Given the description of an element on the screen output the (x, y) to click on. 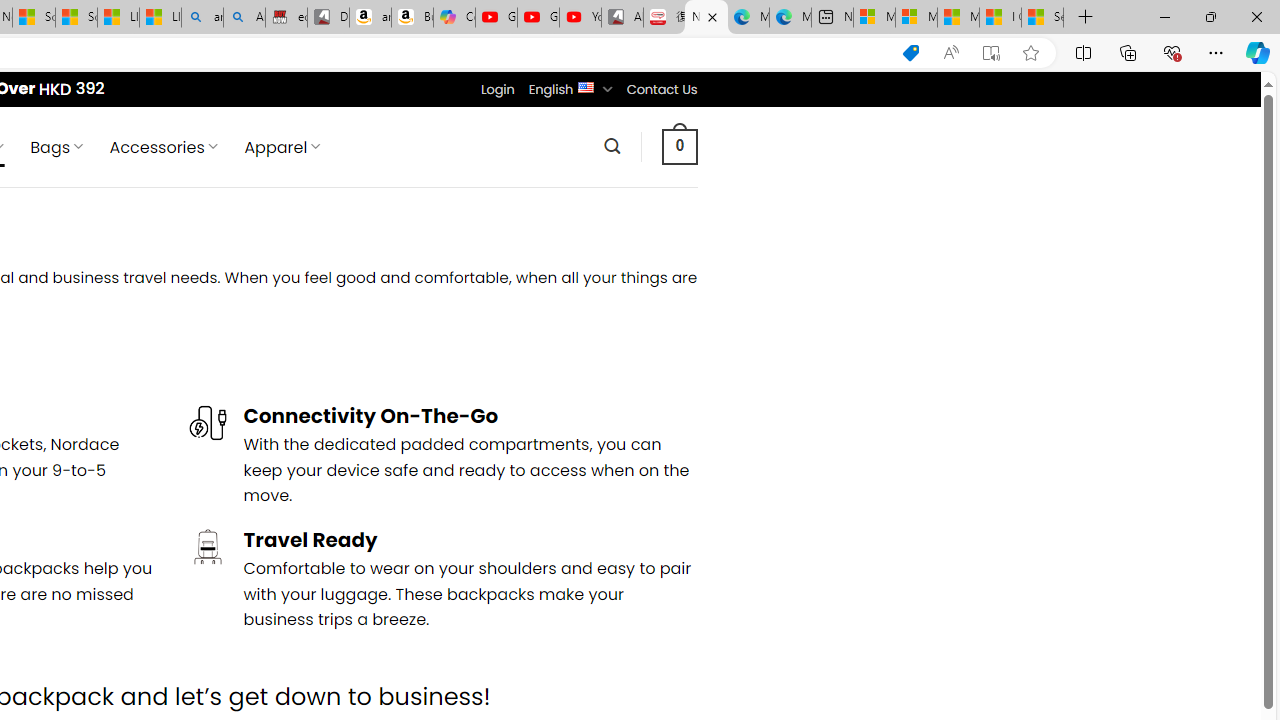
English (586, 86)
